Given the description of an element on the screen output the (x, y) to click on. 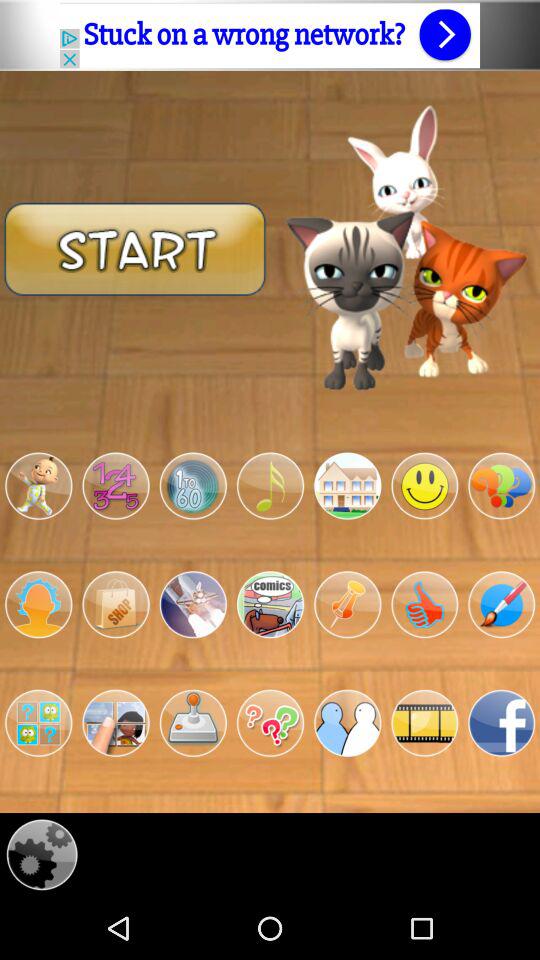
thumbs up (424, 604)
